Given the description of an element on the screen output the (x, y) to click on. 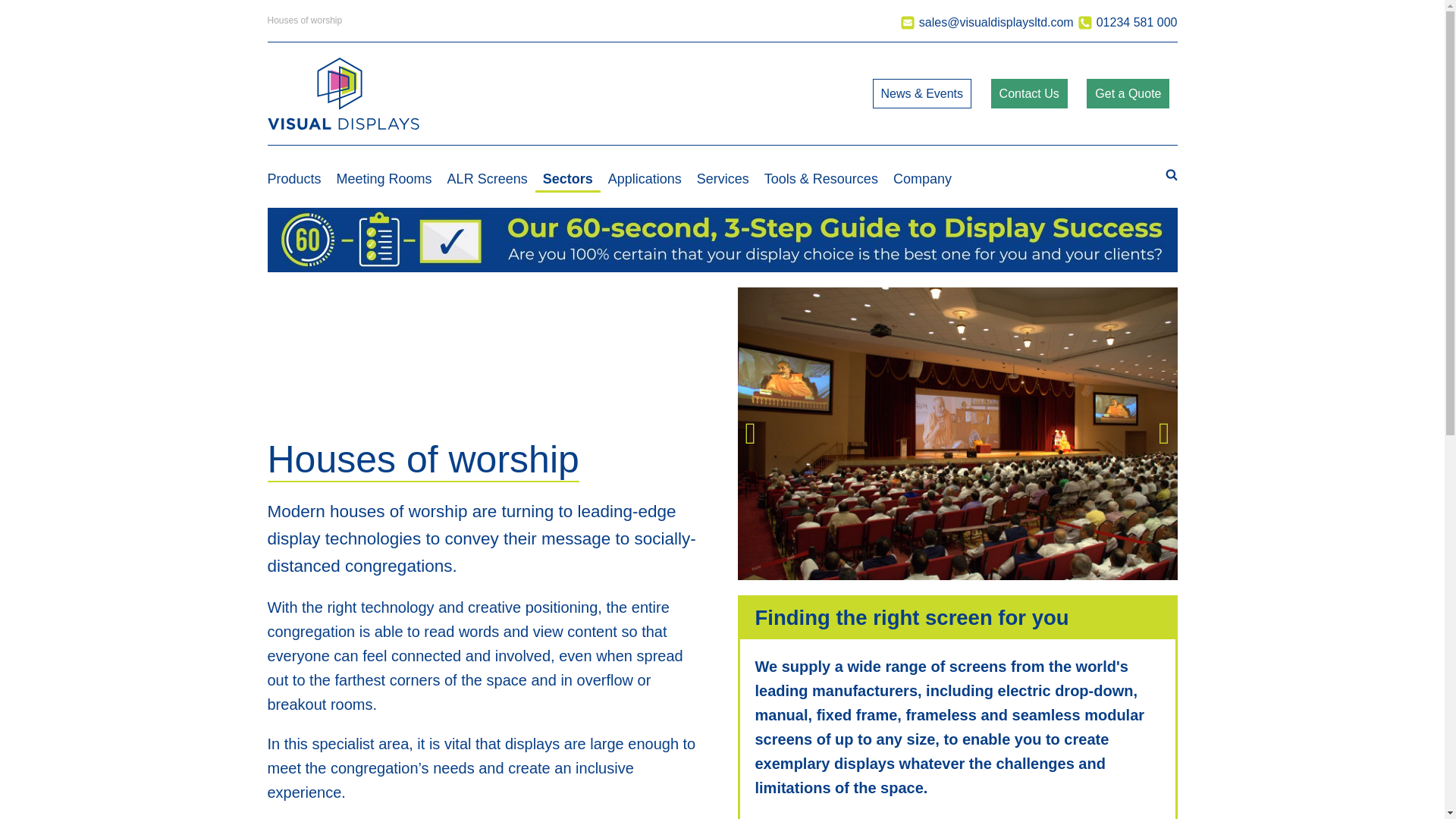
Sectors (567, 176)
ALR Screens (487, 176)
Applications (643, 176)
01234 581 000 (1126, 21)
Meeting Rooms (384, 176)
Contact Us (1029, 93)
Get a Quote (1127, 93)
Products (297, 176)
